Given the description of an element on the screen output the (x, y) to click on. 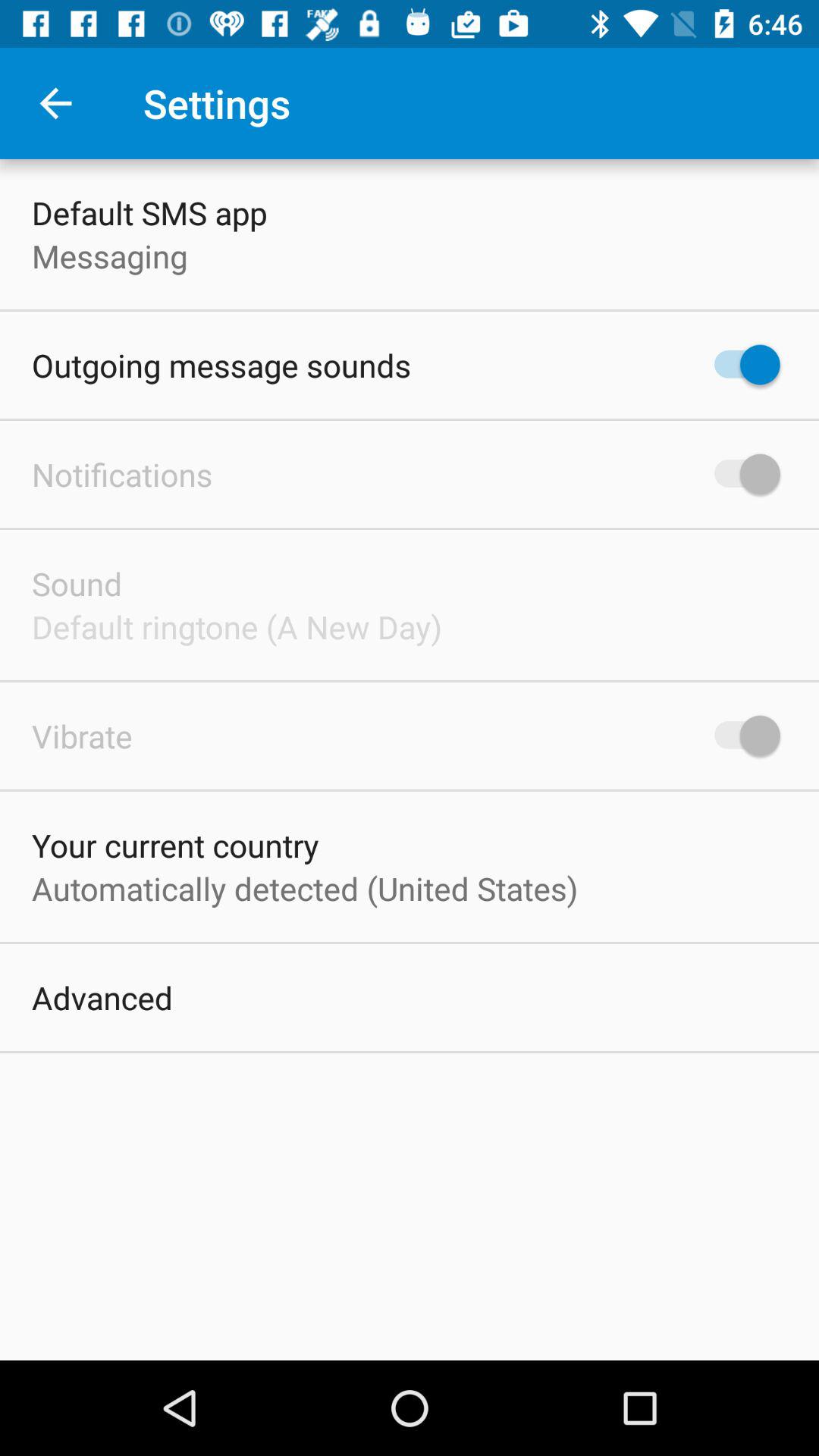
click item above the default sms app item (55, 103)
